Given the description of an element on the screen output the (x, y) to click on. 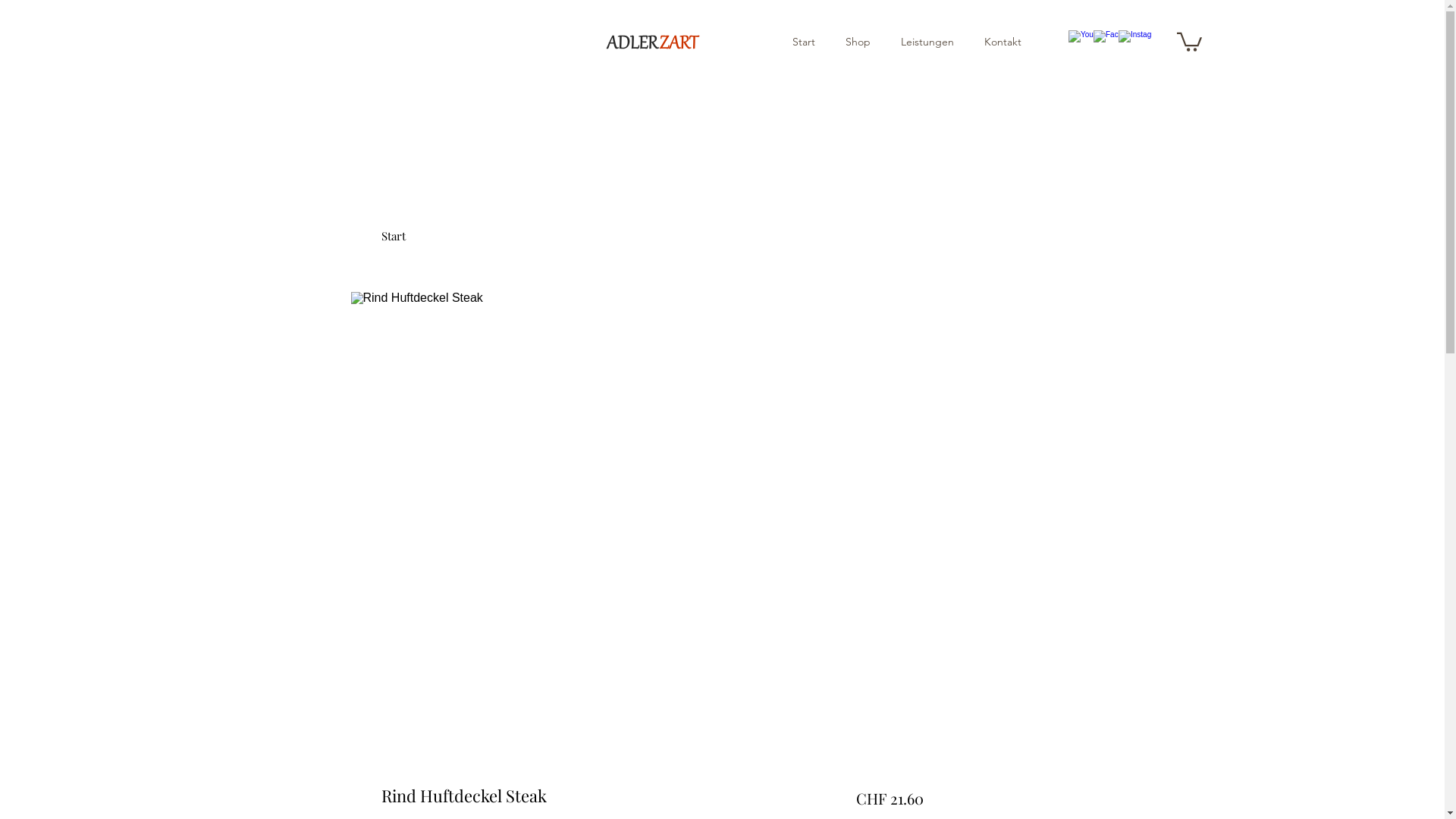
Kontakt Element type: text (995, 41)
Shop Element type: text (850, 41)
Start Element type: text (795, 41)
Leistungen Element type: text (919, 41)
0 Element type: text (1188, 40)
Start Element type: text (392, 235)
